Given the description of an element on the screen output the (x, y) to click on. 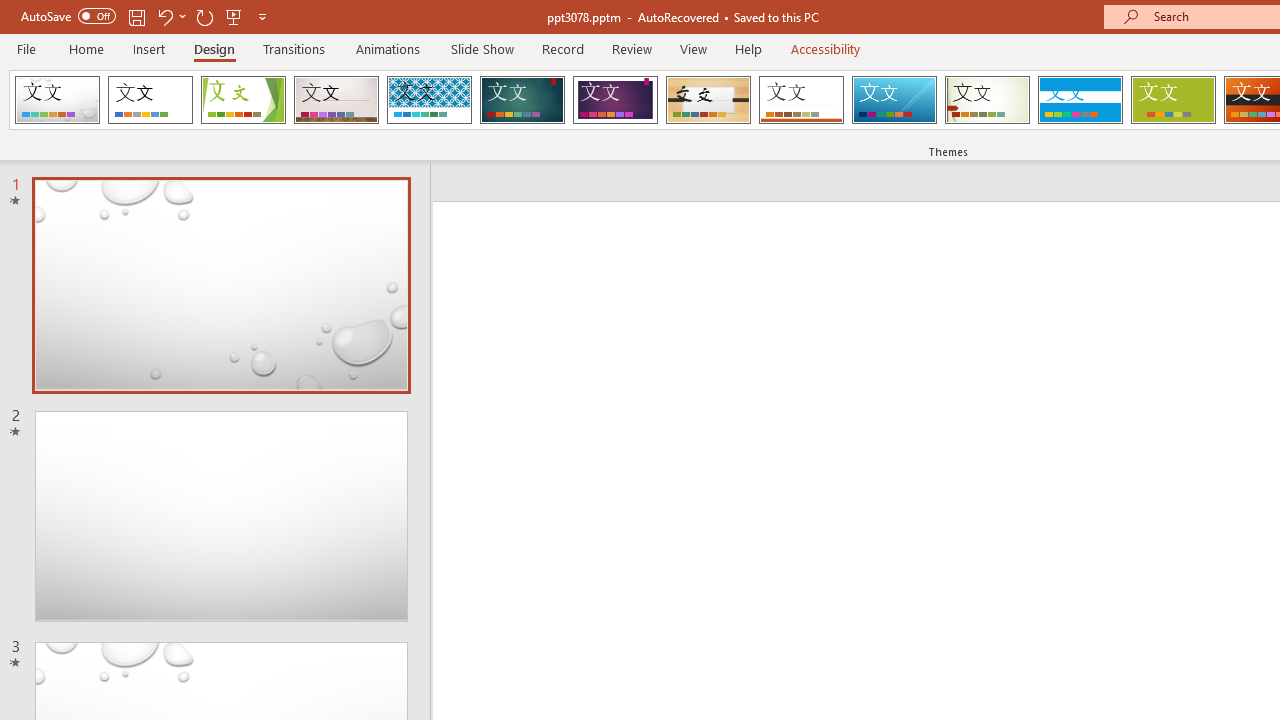
Facet (243, 100)
Damask (57, 100)
Ion Boardroom (615, 100)
